Given the description of an element on the screen output the (x, y) to click on. 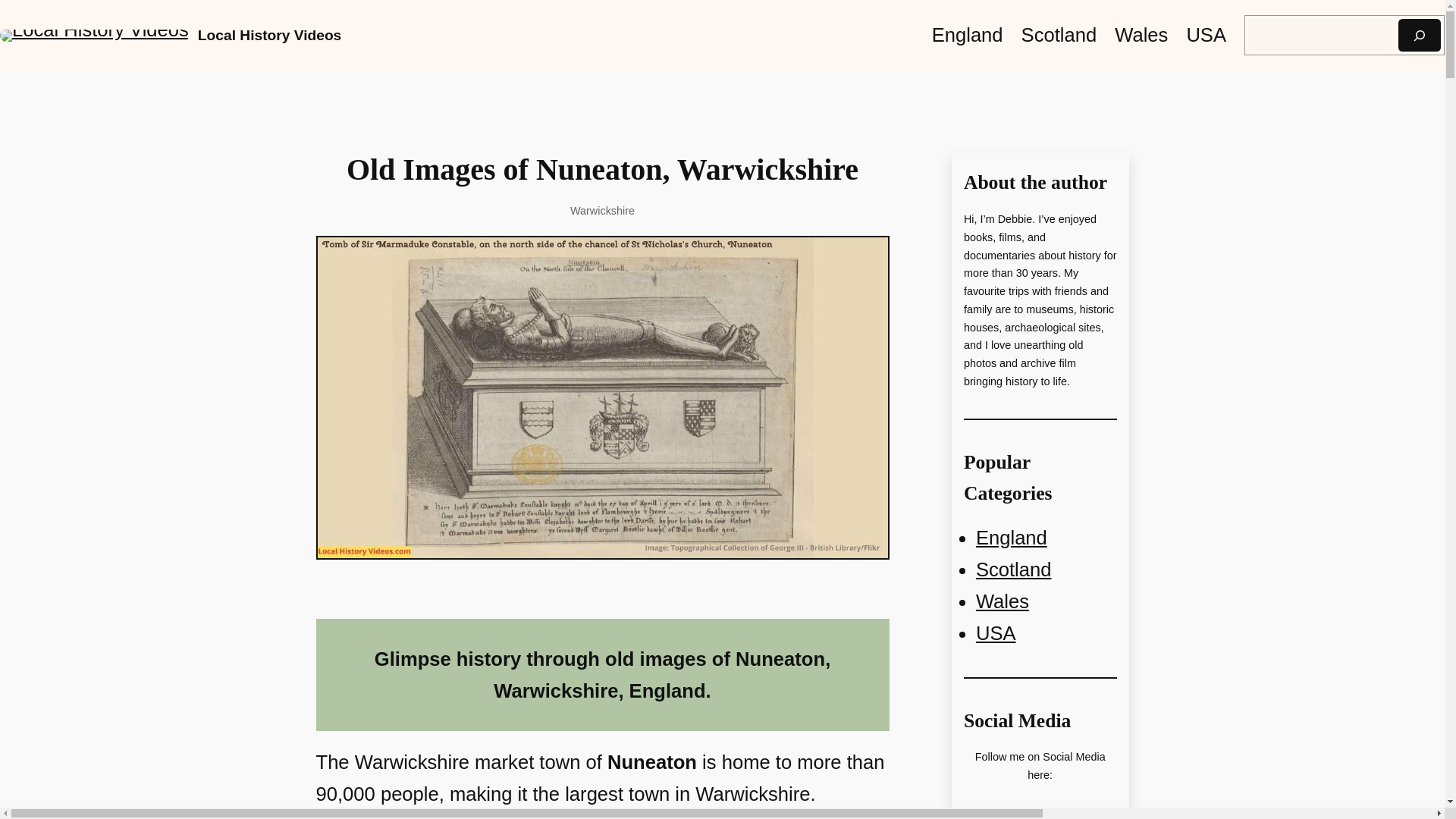
USA (1205, 34)
Local History Videos (269, 35)
Scotland (1059, 34)
Pinterest (1040, 815)
Wales (1002, 600)
Scotland (1013, 568)
England (967, 34)
Warwickshire (602, 210)
Facebook (997, 815)
England (1010, 537)
Wales (1141, 34)
USA (995, 632)
